Given the description of an element on the screen output the (x, y) to click on. 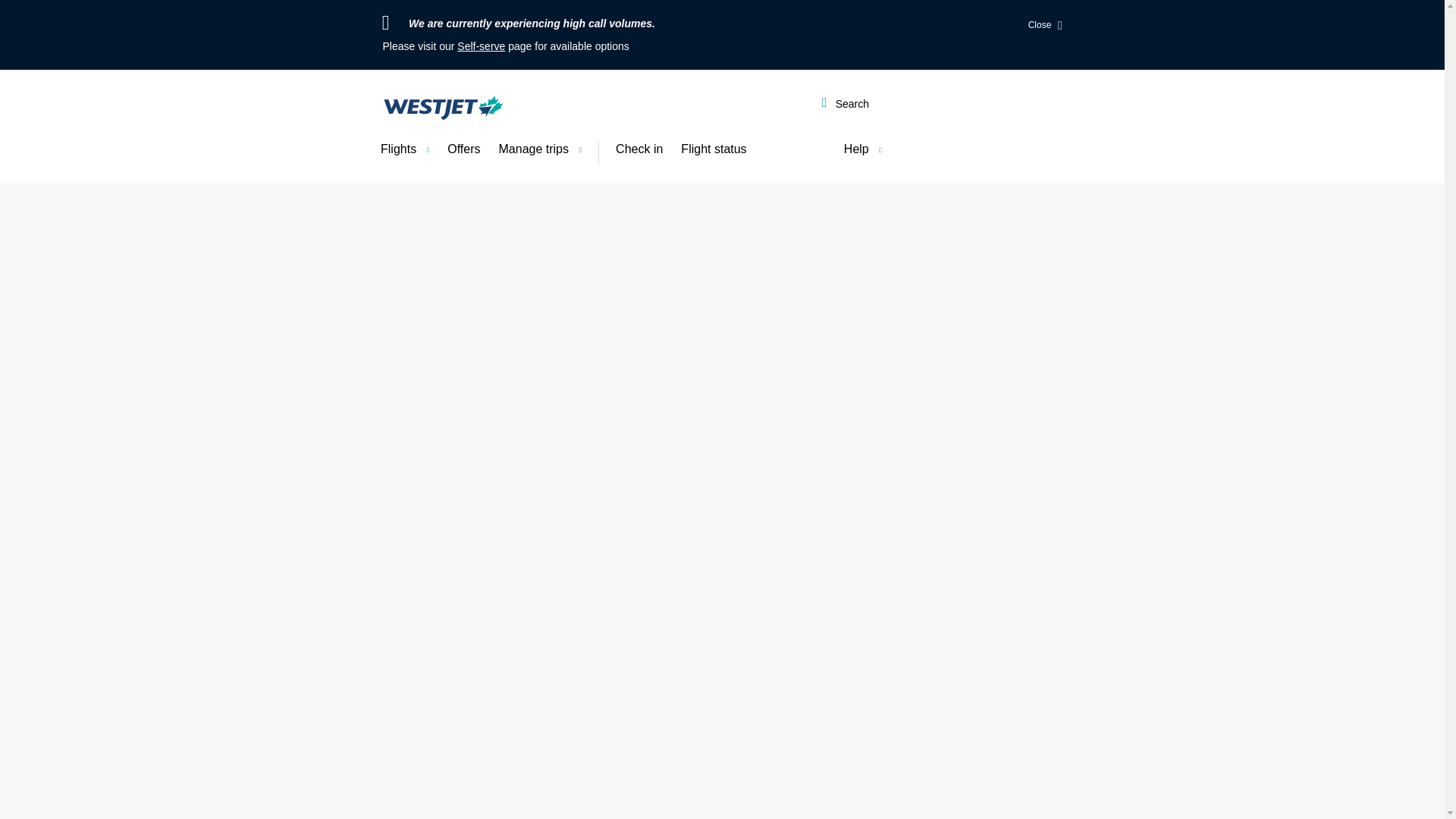
Manage trips (540, 149)
Flights (404, 149)
Self-serve (481, 46)
Flight status (713, 149)
Offers (463, 149)
Check in (639, 149)
Navigate to the homepage (443, 107)
Close (1044, 25)
Search (845, 104)
